Given the description of an element on the screen output the (x, y) to click on. 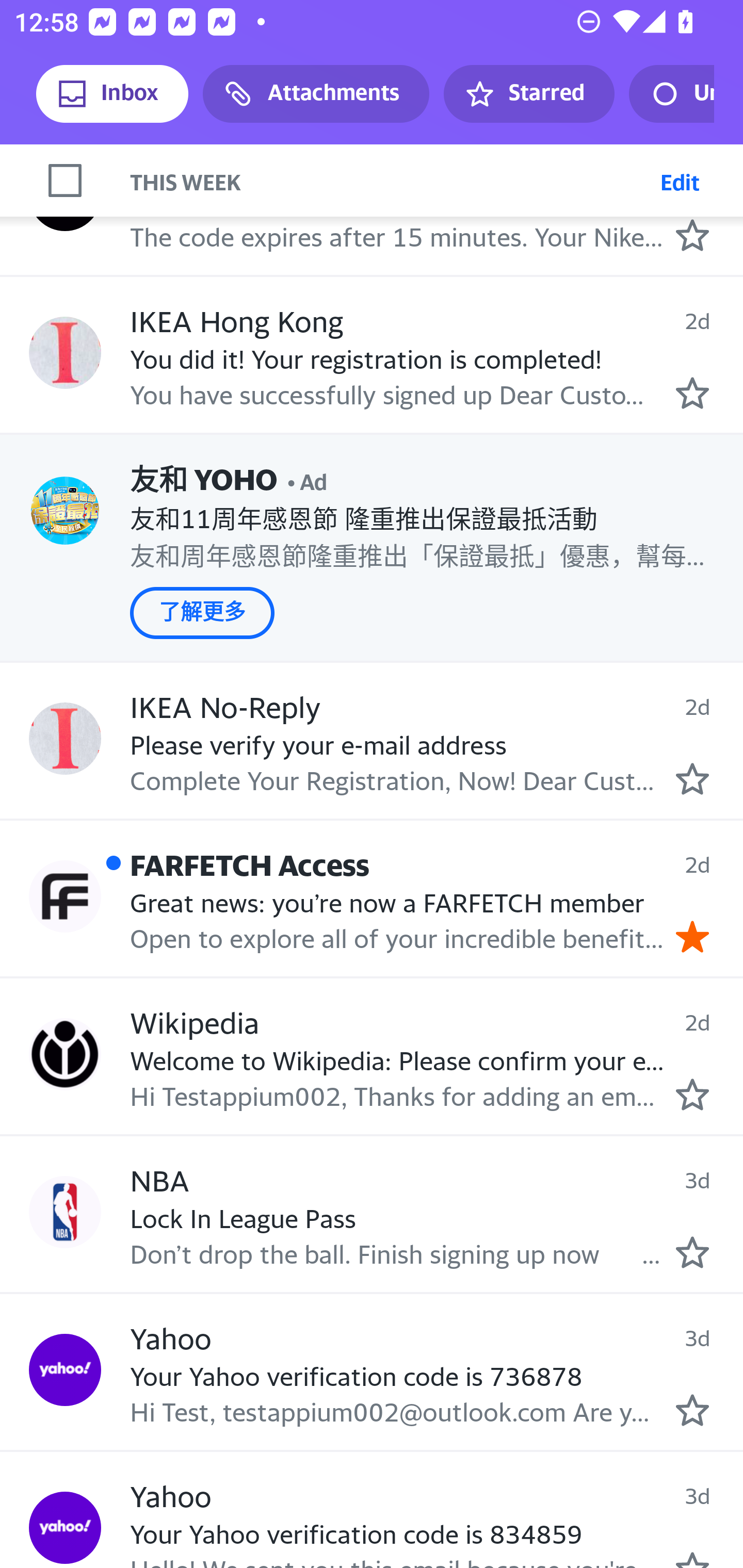
Attachments (315, 93)
Starred (528, 93)
Profile
Nike (64, 194)
Mark as starred. (692, 235)
Profile
IKEA Hong Kong (64, 352)
Mark as starred. (692, 392)
Profile
IKEA No-Reply (64, 738)
Mark as starred. (692, 778)
Profile
FARFETCH Access (64, 896)
Remove star. (692, 936)
Profile
Wikipedia (64, 1053)
Mark as starred. (692, 1095)
Profile
NBA (64, 1212)
Mark as starred. (692, 1252)
Profile
Yahoo (64, 1370)
Mark as starred. (692, 1410)
Profile
Yahoo (64, 1527)
